Given the description of an element on the screen output the (x, y) to click on. 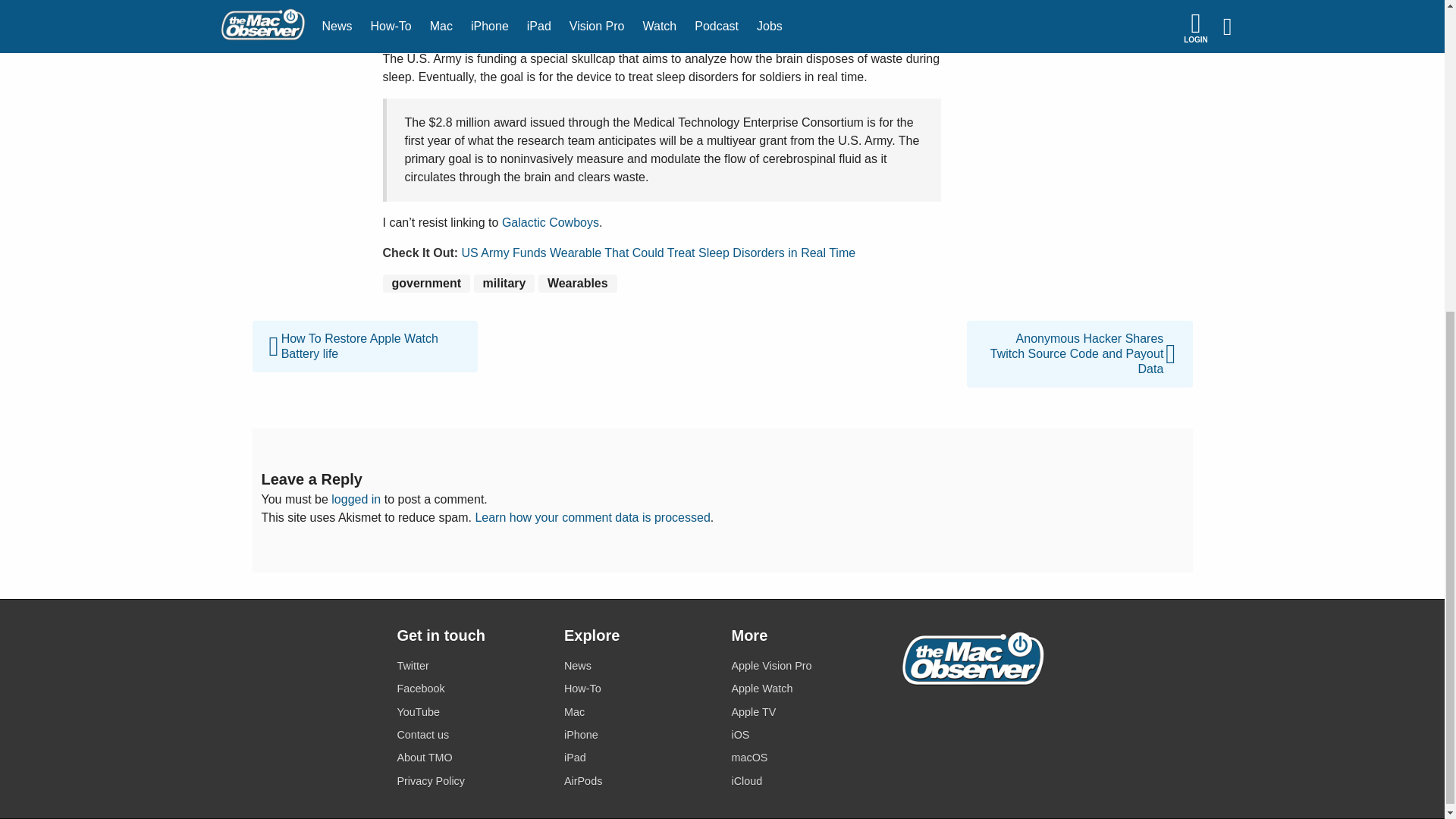
Anonymous Hacker Shares Twitch Source Code and Payout Data (1079, 328)
iPhone (638, 734)
How To Restore Apple Watch Battery life (364, 328)
iPad (638, 757)
Privacy Policy (471, 781)
Contact us (471, 734)
Apple Watch (805, 688)
YouTube (471, 711)
News (638, 666)
Facebook (471, 688)
